Given the description of an element on the screen output the (x, y) to click on. 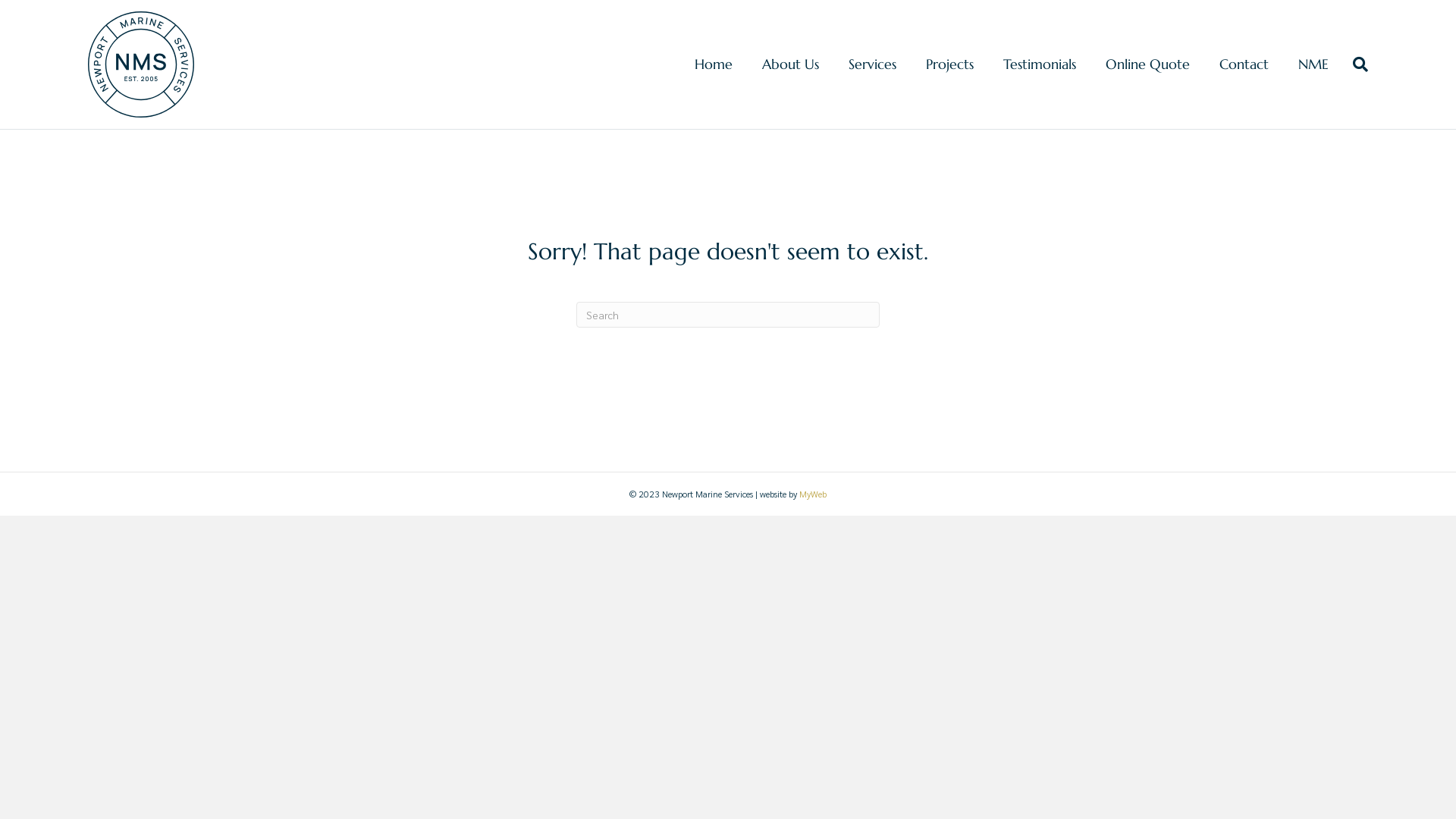
Type and press Enter to search. Element type: hover (727, 314)
Home Element type: text (713, 63)
Services Element type: text (872, 63)
Contact Element type: text (1243, 63)
MyWeb Element type: text (812, 493)
Online Quote Element type: text (1147, 63)
NME Element type: text (1313, 63)
Projects Element type: text (949, 63)
About Us Element type: text (790, 63)
Testimonials Element type: text (1039, 63)
